Given the description of an element on the screen output the (x, y) to click on. 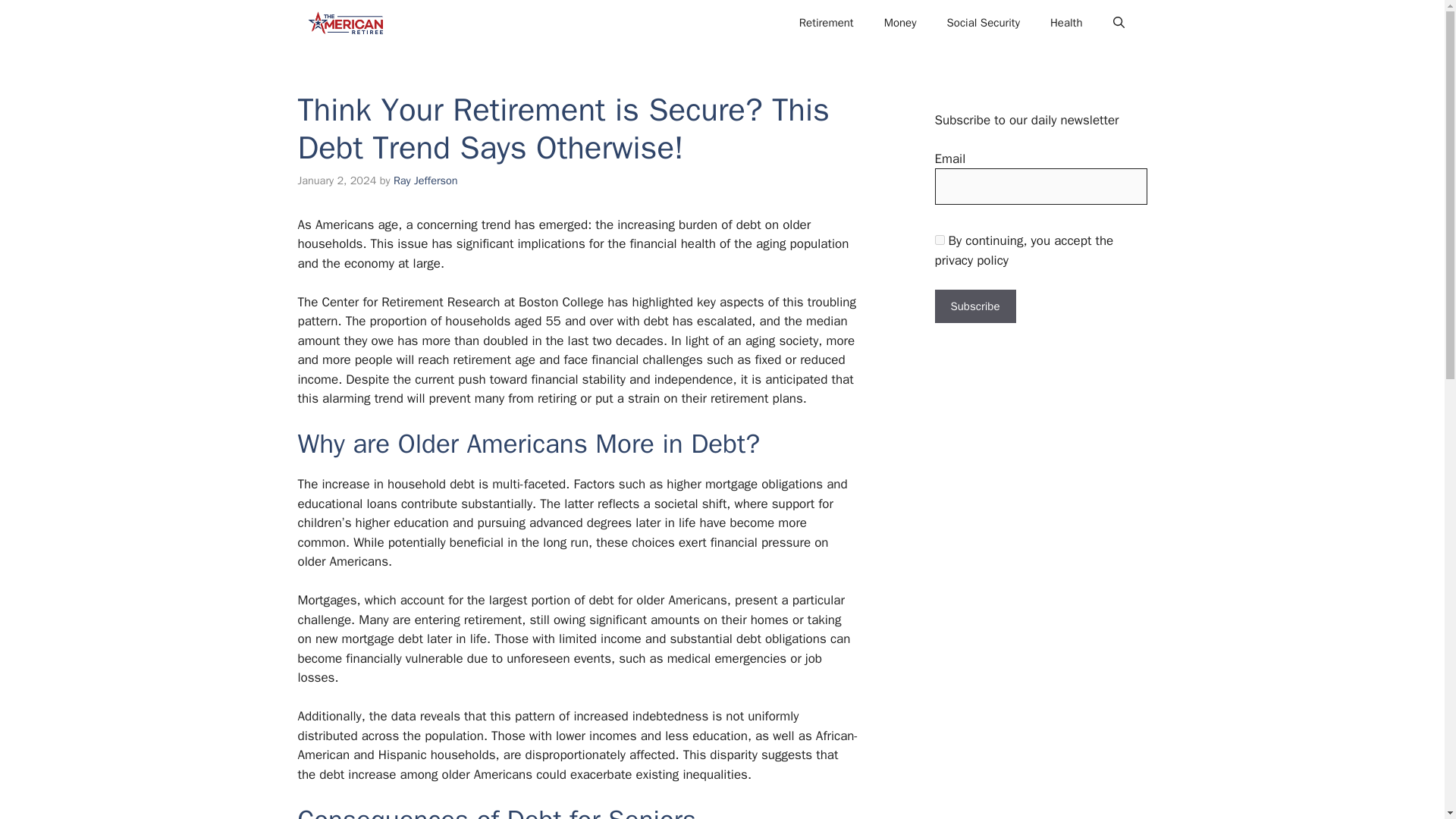
Health (1066, 22)
Subscribe (974, 306)
Ray Jefferson (425, 180)
Subscribe (974, 306)
Money (900, 22)
Social Security (983, 22)
The American Retiree (344, 22)
View all posts by Ray Jefferson (425, 180)
Retirement (826, 22)
1 (938, 239)
